Given the description of an element on the screen output the (x, y) to click on. 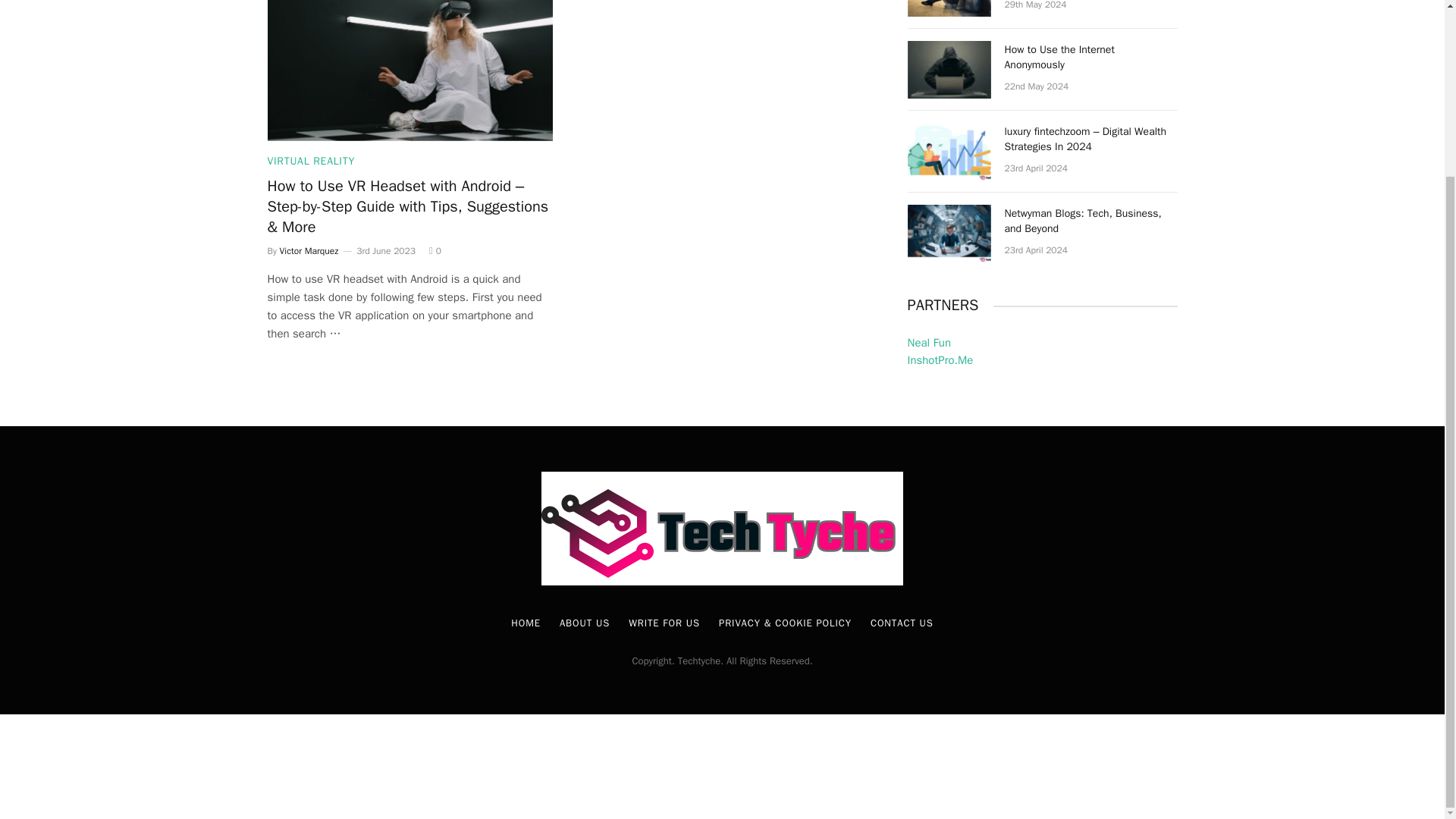
Netwyman Blogs: Tech, Business, and Beyond (948, 233)
Which Variation of Online Poker Is Right for You? (948, 8)
How to Use the Internet Anonymously (948, 69)
Posts by Victor Marquez (309, 250)
